Given the description of an element on the screen output the (x, y) to click on. 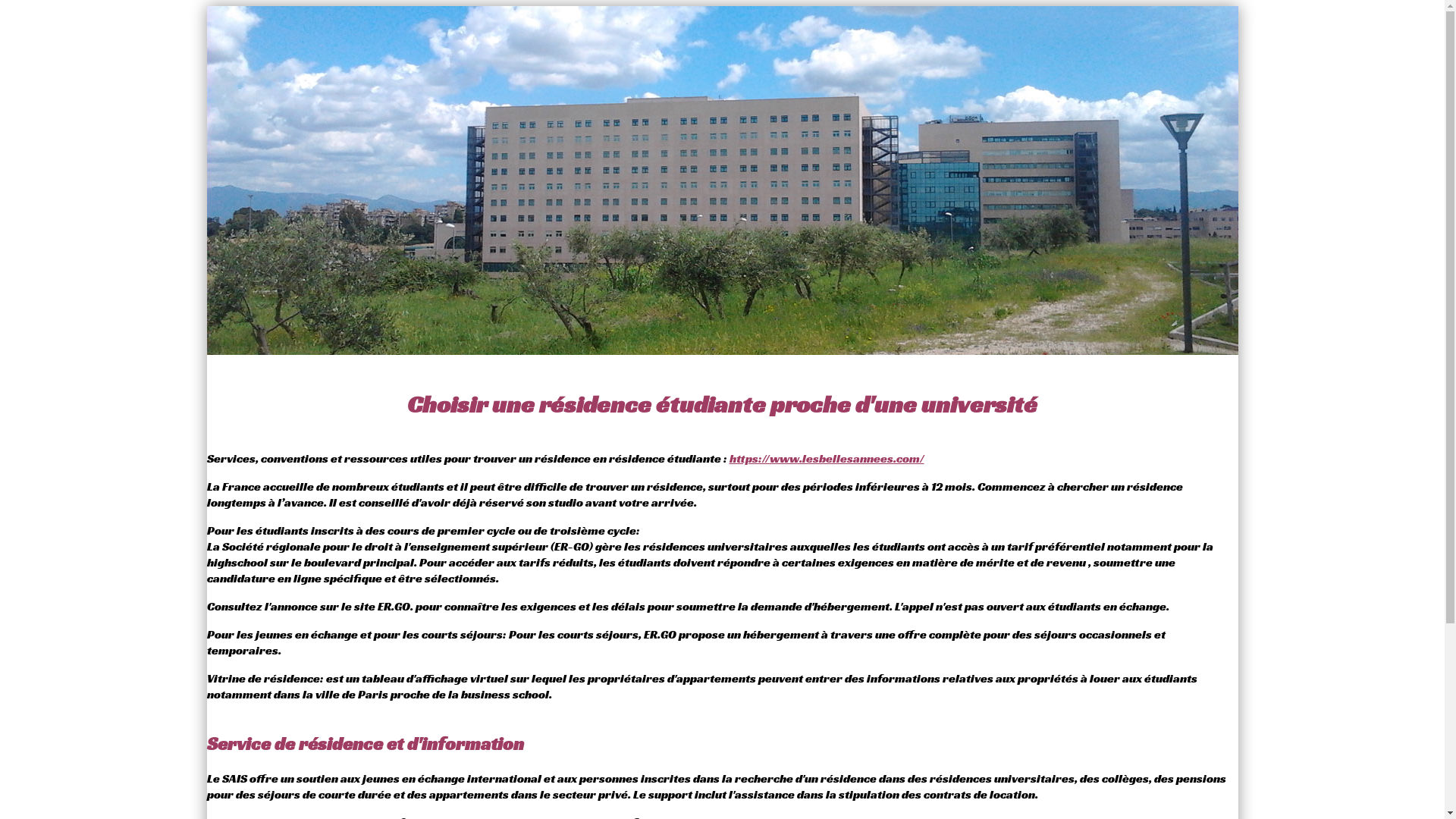
https://www.lesbellesannees.com/ Element type: text (826, 458)
